Given the description of an element on the screen output the (x, y) to click on. 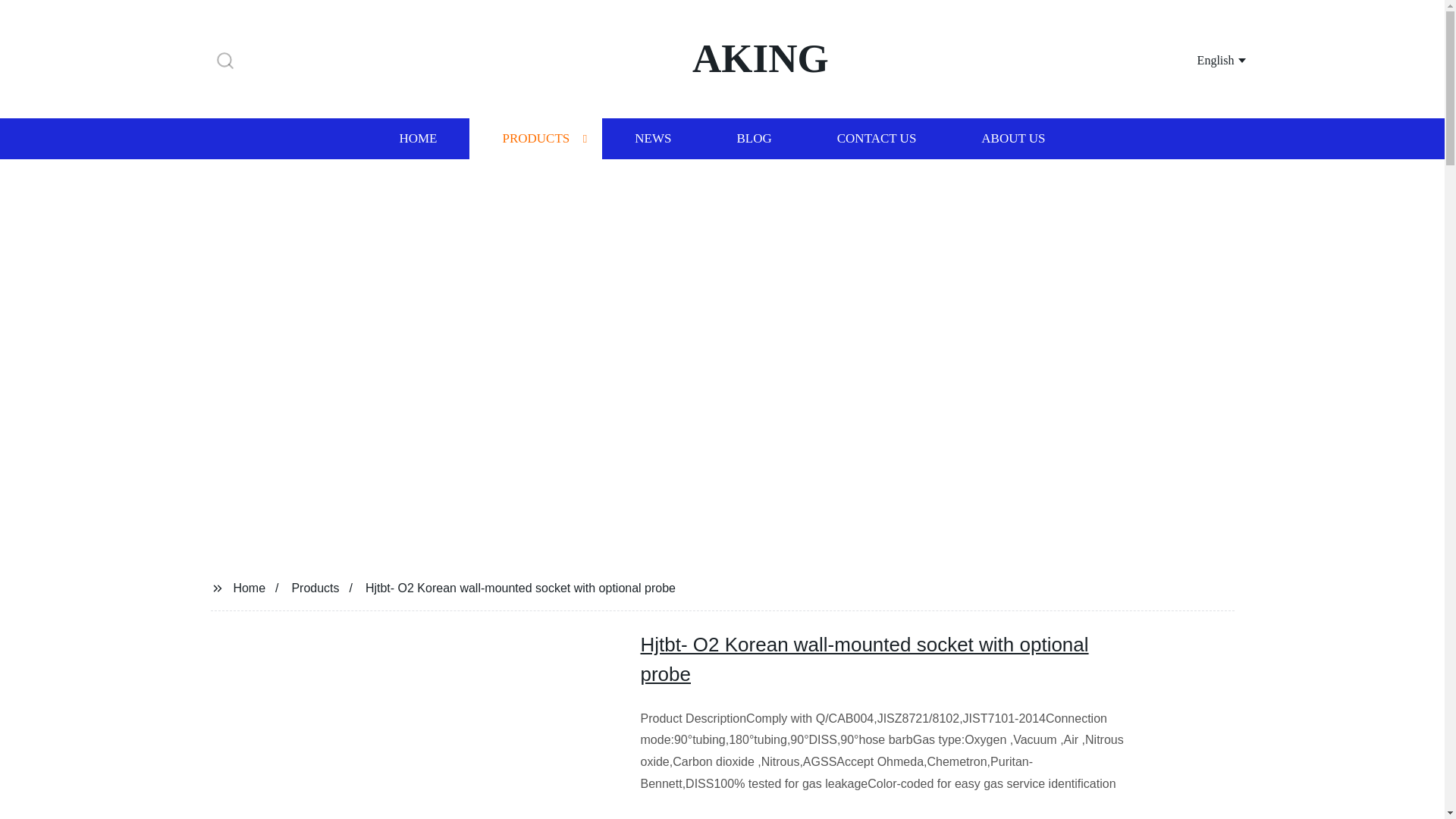
HOME (417, 137)
Products (315, 586)
PRODUCTS (535, 137)
ABOUT US (1013, 137)
Home (248, 586)
BLOG (753, 137)
English (1203, 59)
English (1203, 59)
NEWS (652, 137)
CONTACT US (877, 137)
